Given the description of an element on the screen output the (x, y) to click on. 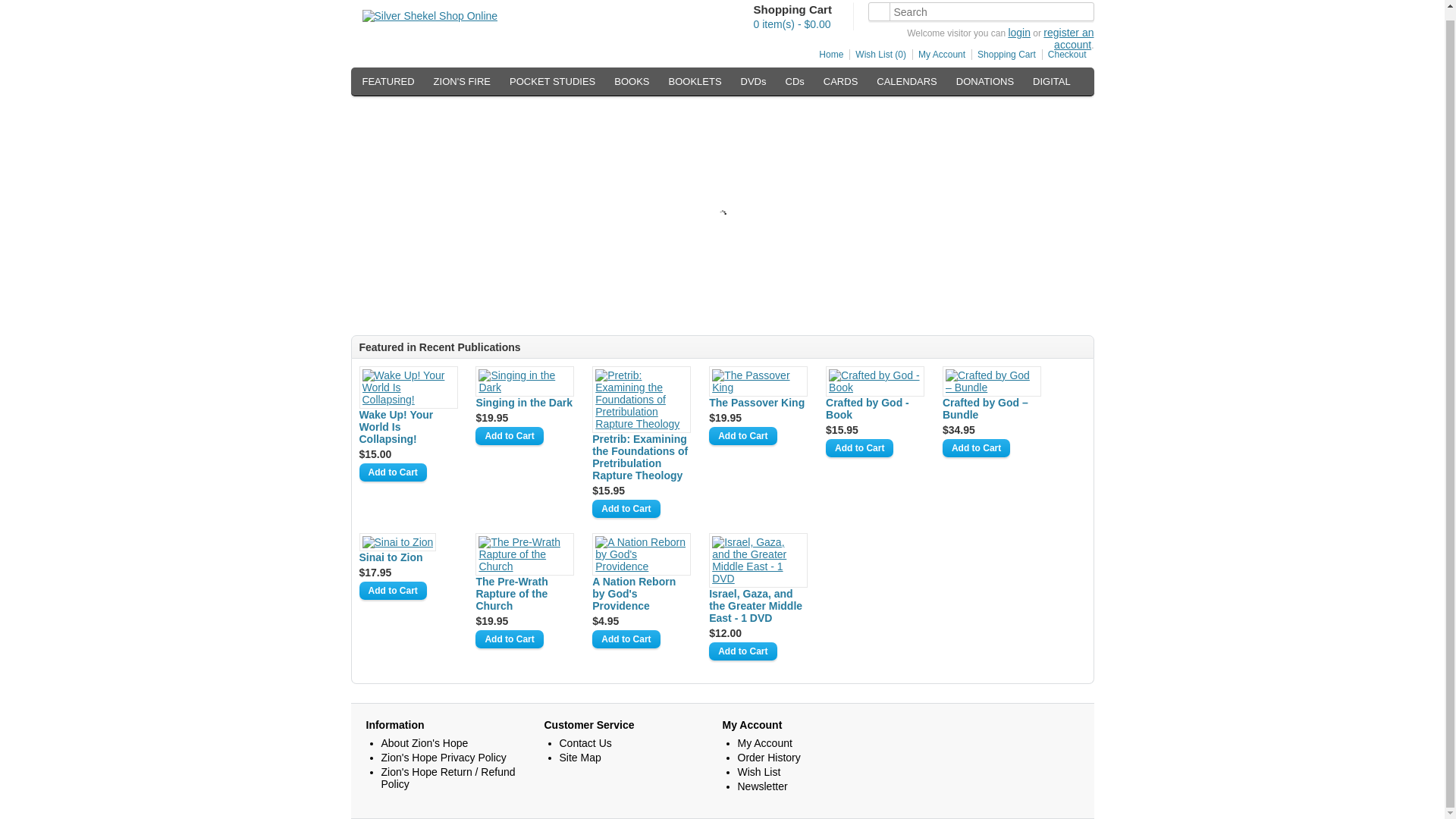
Add to Cart (509, 638)
register an account (1068, 38)
Add to Cart (742, 651)
CALENDARS (906, 81)
Shopping Cart (1003, 54)
BOOKLETS (695, 81)
Add to Cart (625, 638)
Add to Cart (859, 447)
My Account (938, 54)
login (1018, 32)
